Given the description of an element on the screen output the (x, y) to click on. 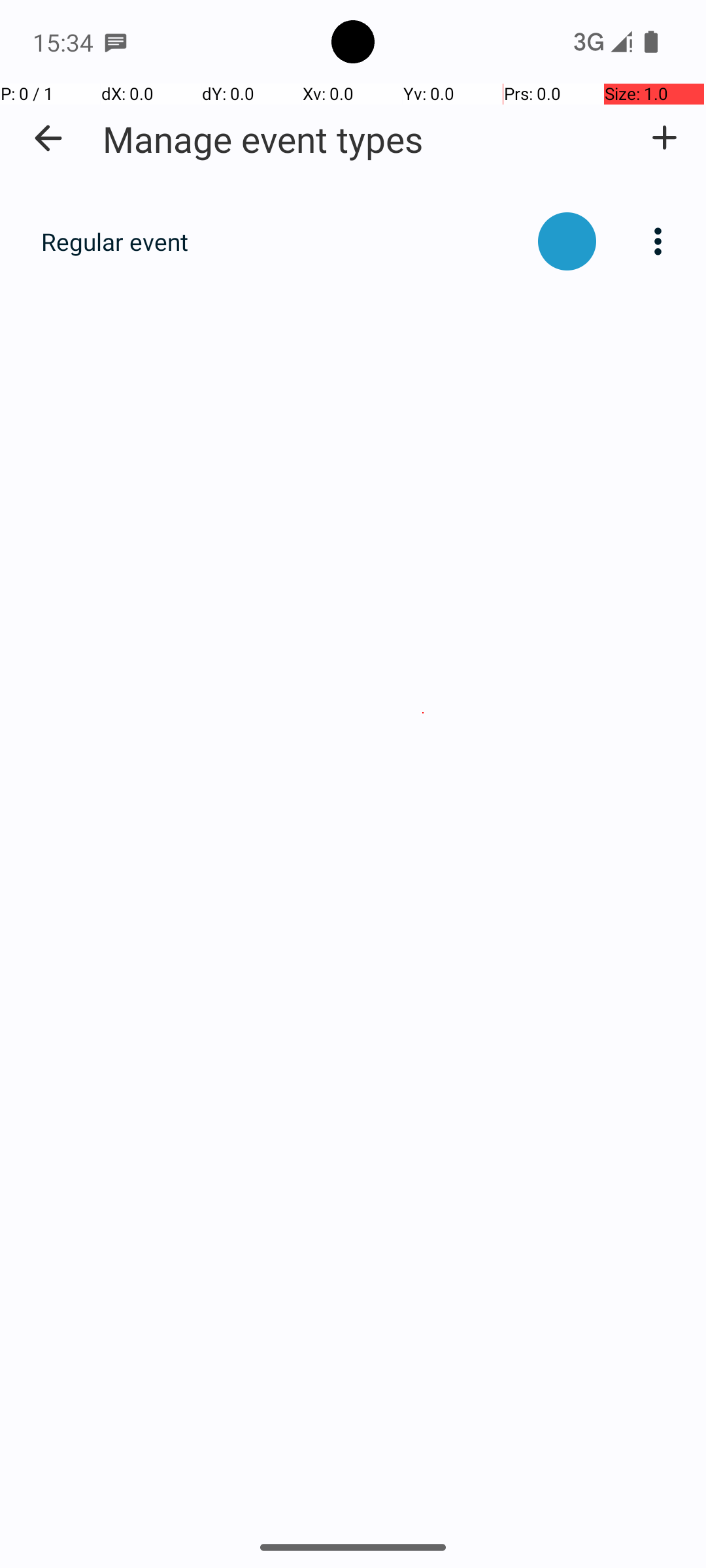
Manage event types Element type: android.widget.TextView (262, 138)
Add a new type Element type: android.widget.Button (664, 137)
